Given the description of an element on the screen output the (x, y) to click on. 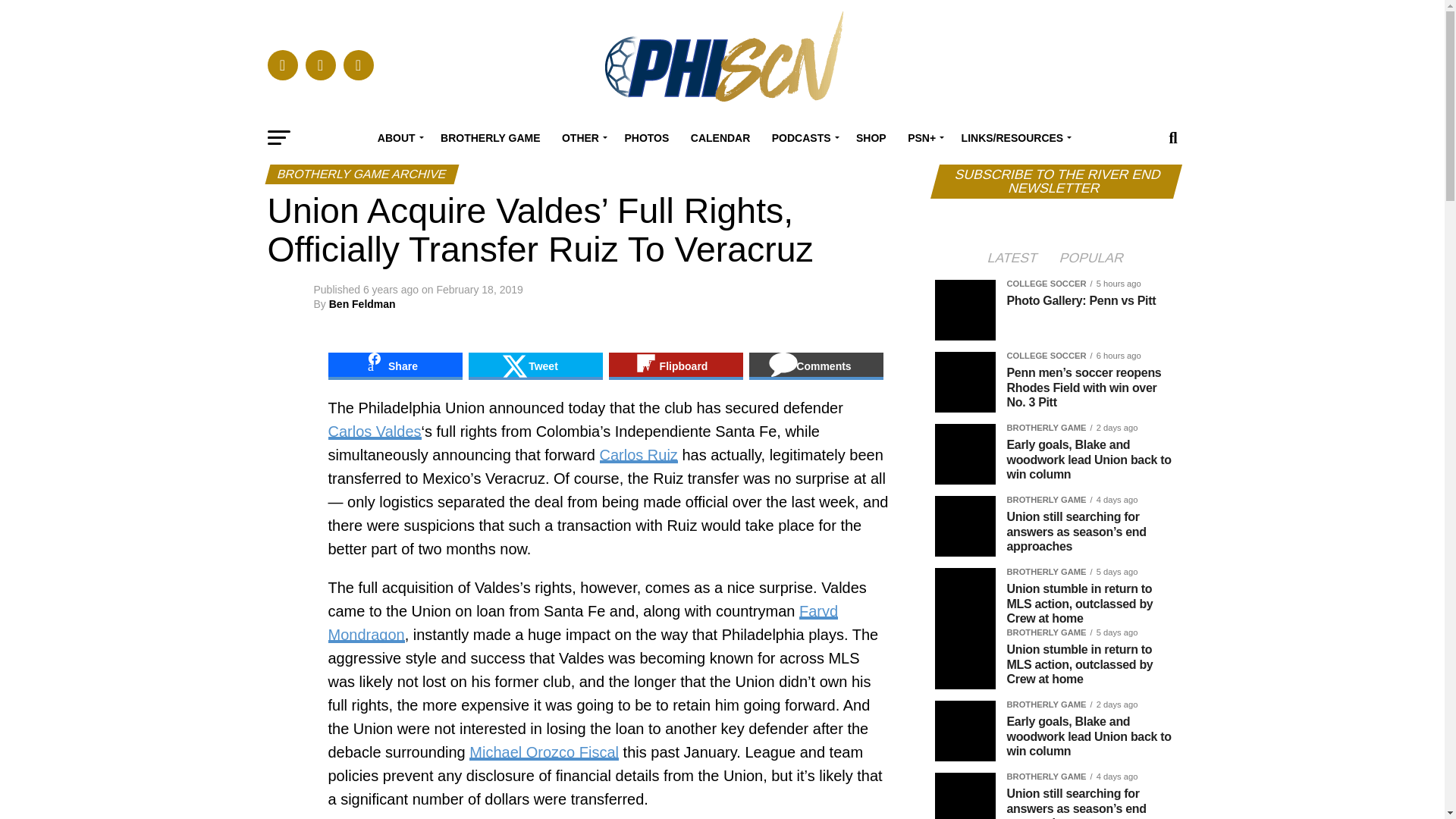
Share on Tweet (535, 366)
Share on Share (394, 366)
Share on Comments (816, 366)
Share on Flipboard (675, 366)
Posts by Ben Feldman (362, 304)
